Given the description of an element on the screen output the (x, y) to click on. 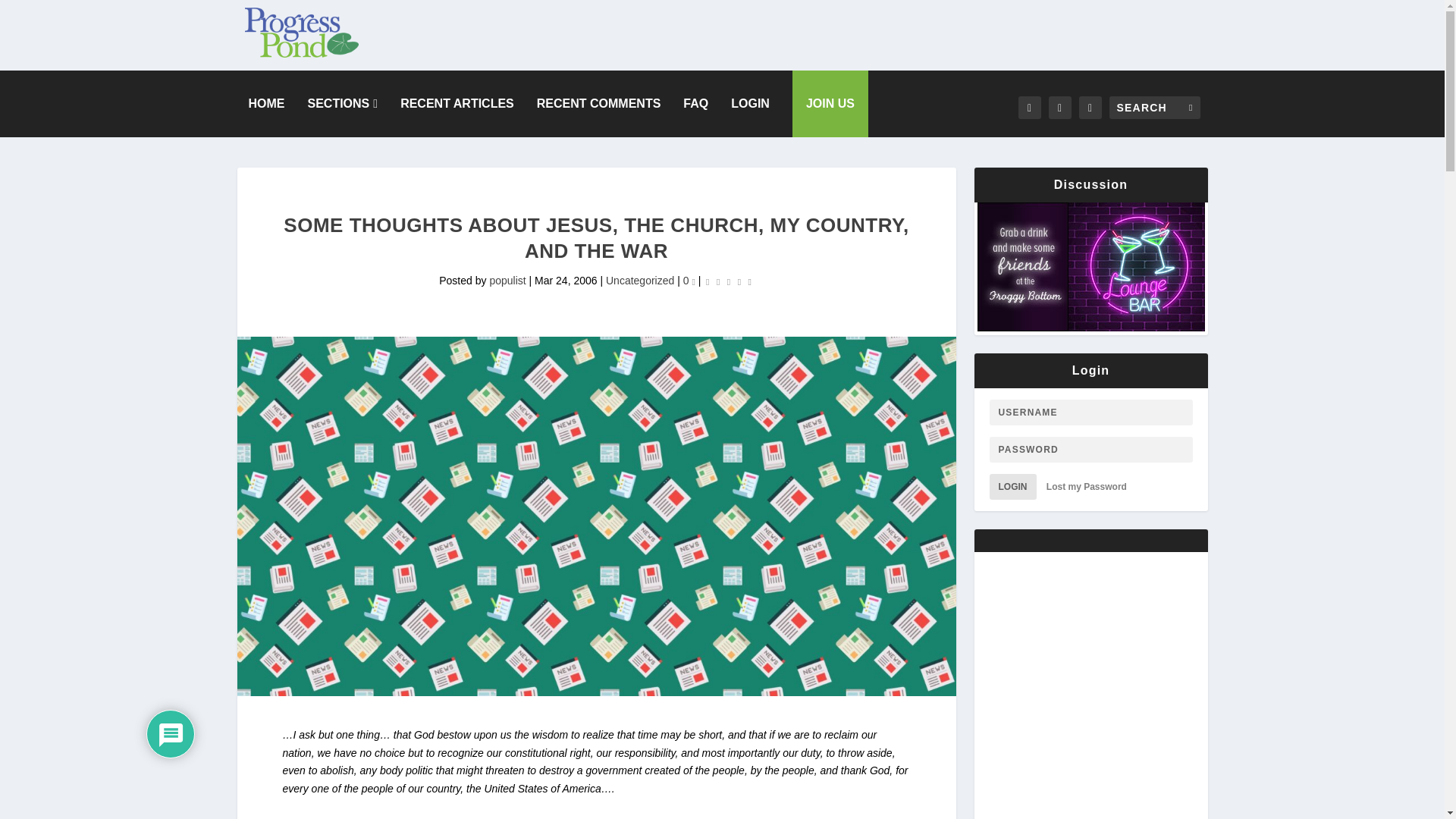
RECENT COMMENTS (599, 103)
SECTIONS (342, 103)
Posts by populist (507, 280)
populist (507, 280)
RECENT ARTICLES (456, 103)
JOIN US (829, 103)
Rating: 0.00 (728, 281)
Search for: (1153, 107)
